Given the description of an element on the screen output the (x, y) to click on. 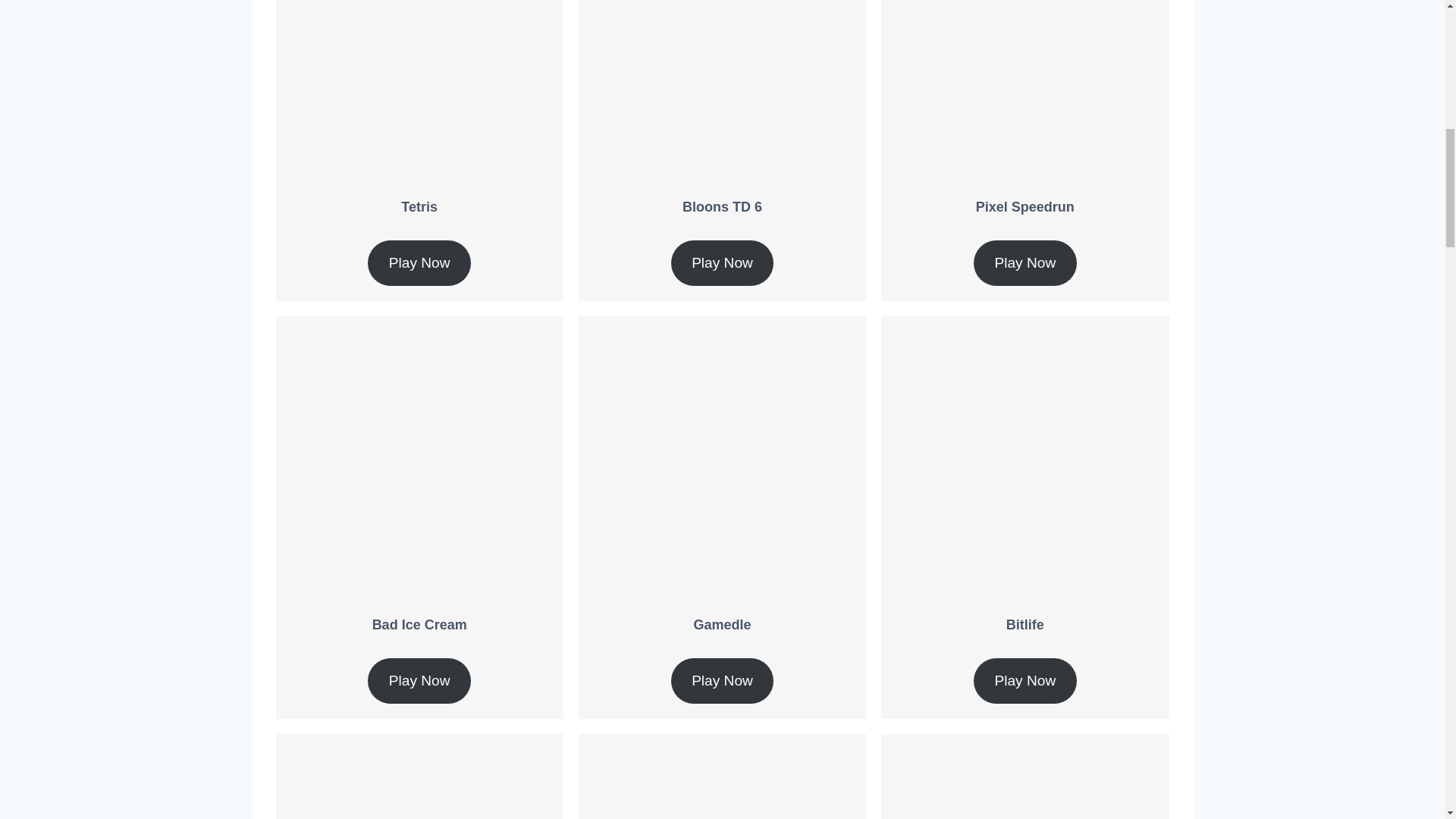
Pixel Speedrun (1024, 206)
Play Now (419, 680)
Play Now (419, 262)
Play Now (722, 262)
Tetris (419, 206)
Bitlife (1024, 624)
Gamedle (722, 624)
Play Now (1025, 262)
Play Now (722, 680)
Play Now (1025, 680)
Bad Ice Cream (419, 624)
Bloons TD 6 (721, 206)
